Given the description of an element on the screen output the (x, y) to click on. 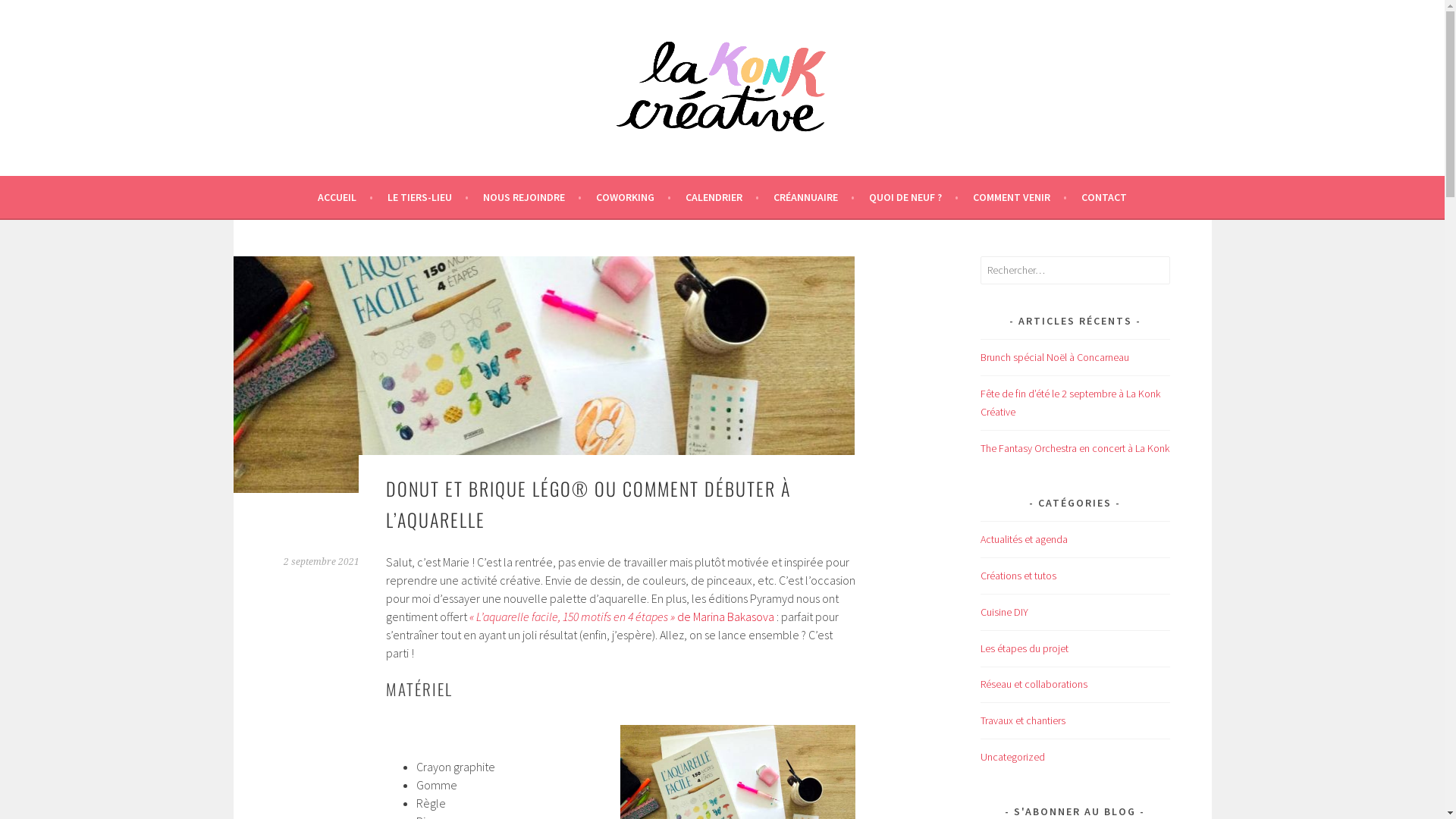
NOUS REJOINDRE Element type: text (532, 197)
CALENDRIER Element type: text (722, 197)
COWORKING Element type: text (633, 197)
Travaux et chantiers Element type: text (1021, 720)
ACCUEIL Element type: text (345, 197)
CONTACT Element type: text (1103, 197)
Cuisine DIY Element type: text (1003, 611)
COMMENT VENIR Element type: text (1019, 197)
2 septembre 2021 Element type: text (321, 561)
LE TIERS-LIEU Element type: text (427, 197)
Uncategorized Element type: text (1011, 756)
Rechercher Element type: text (37, 13)
QUOI DE NEUF ? Element type: text (913, 197)
